Given the description of an element on the screen output the (x, y) to click on. 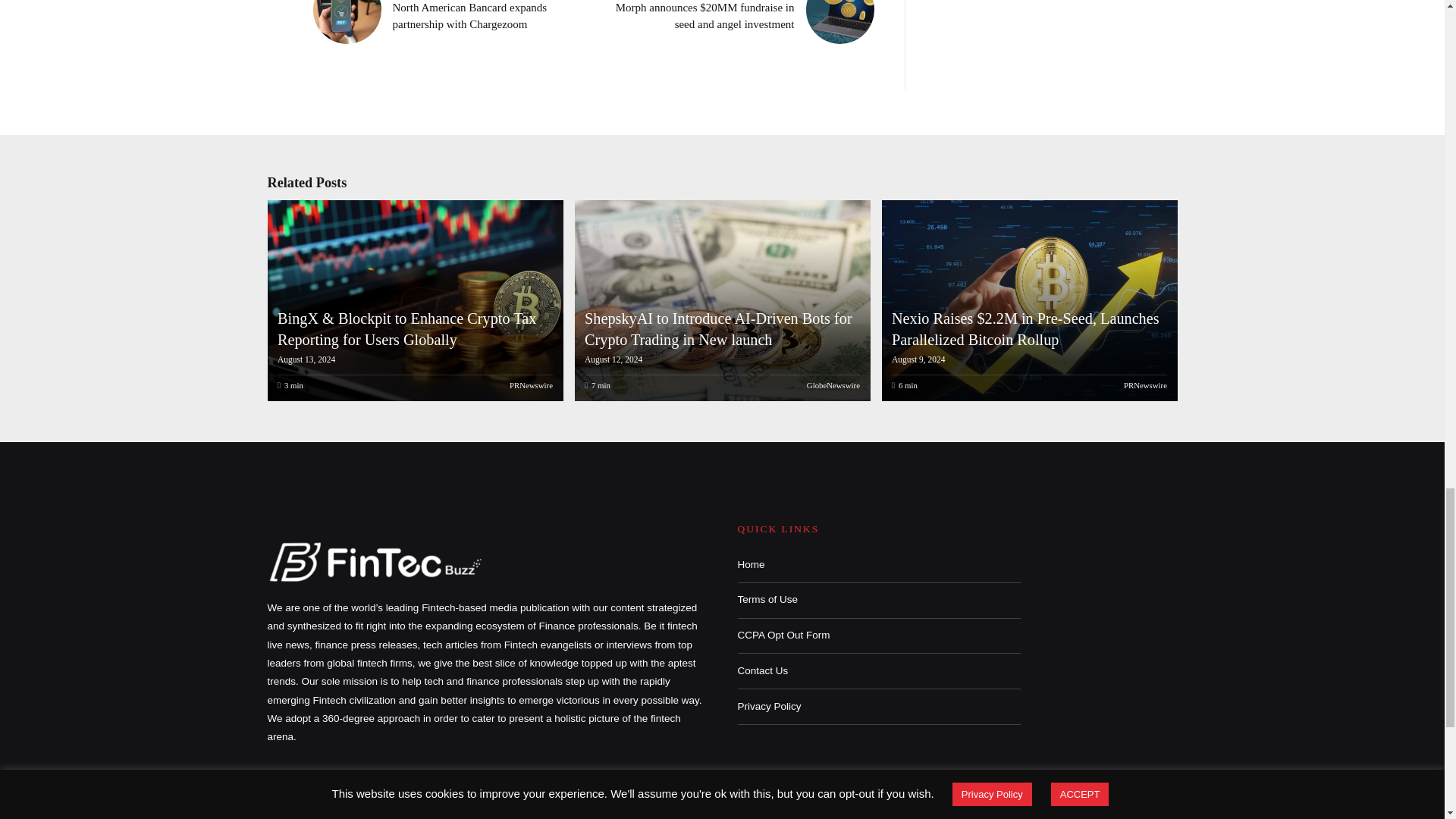
newOriginal-white-FinTech1-1 (376, 561)
